Given the description of an element on the screen output the (x, y) to click on. 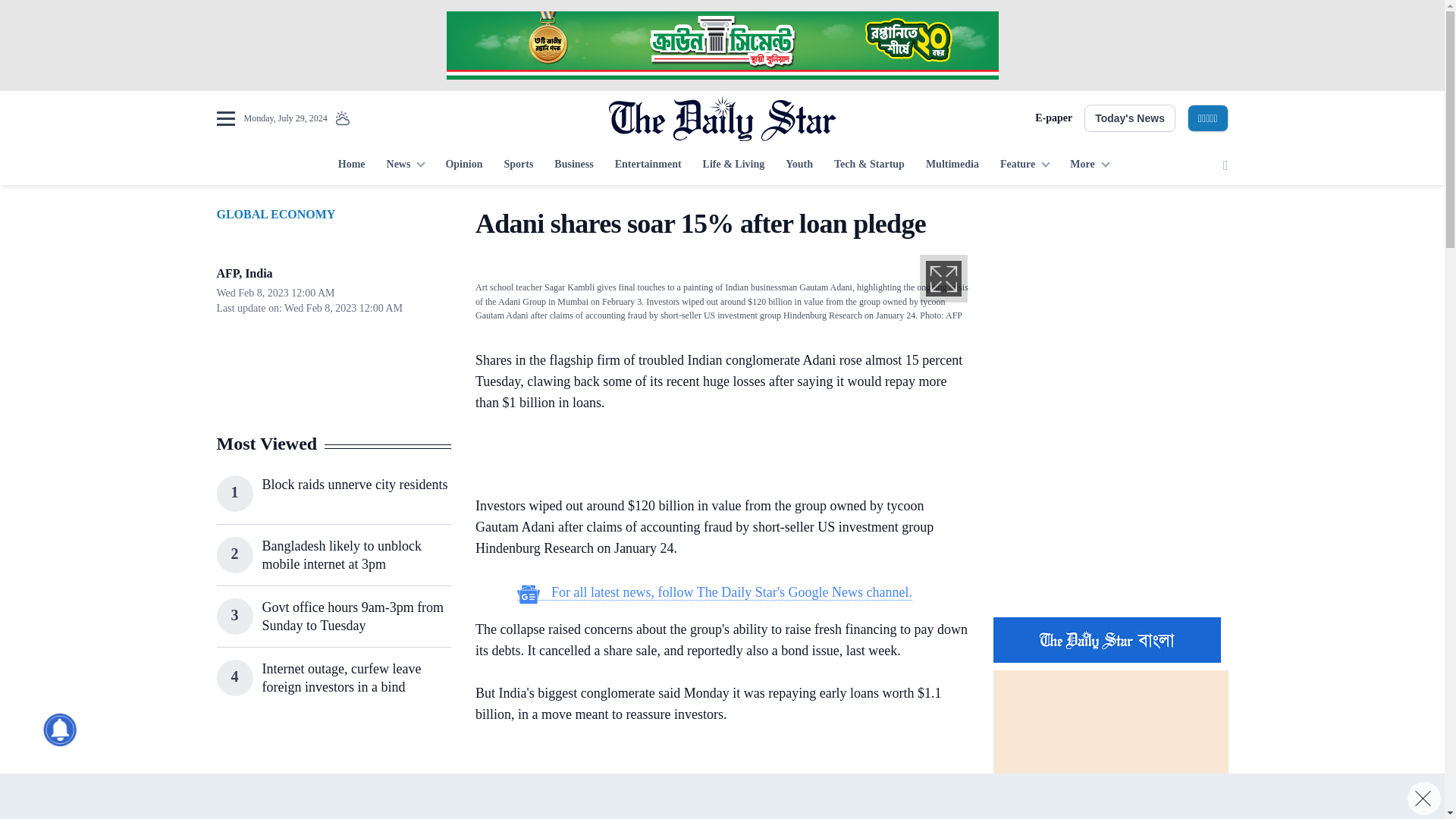
Sports (518, 165)
3rd party ad content (332, 773)
Youth (799, 165)
3rd party ad content (713, 782)
Multimedia (952, 165)
3rd party ad content (714, 456)
3rd party ad content (721, 796)
News (405, 165)
Feature (1024, 165)
3rd party ad content (721, 45)
3rd party ad content (1110, 302)
Business (573, 165)
Entertainment (647, 165)
Today's News (1129, 117)
